Given the description of an element on the screen output the (x, y) to click on. 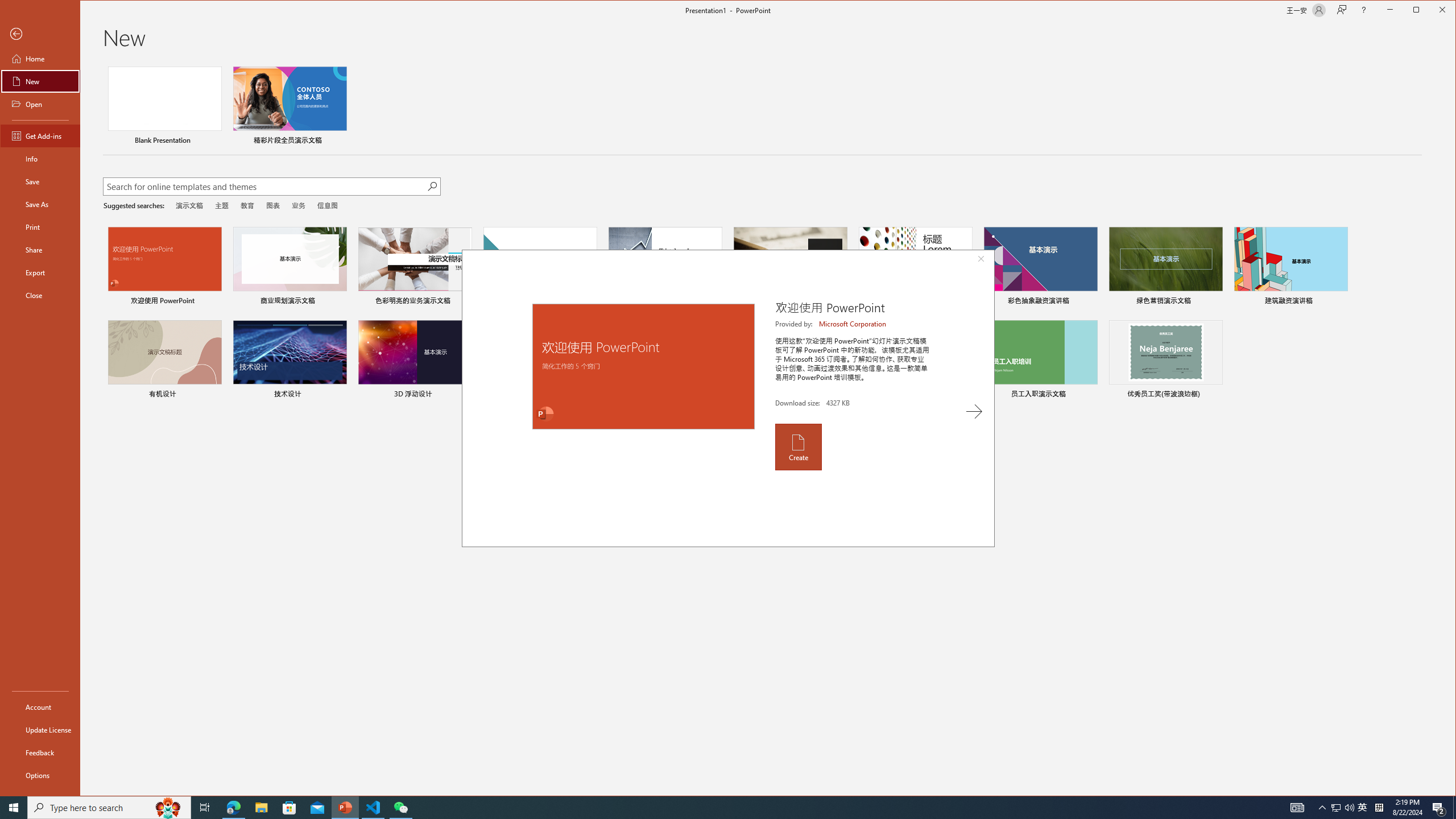
Create (797, 446)
Running applications (707, 807)
Search for online templates and themes (264, 187)
Microsoft Store (289, 807)
Feedback (40, 752)
Blank Presentation (164, 107)
Visual Studio Code - 1 running window (373, 807)
PowerPoint - 1 running window (345, 807)
